Given the description of an element on the screen output the (x, y) to click on. 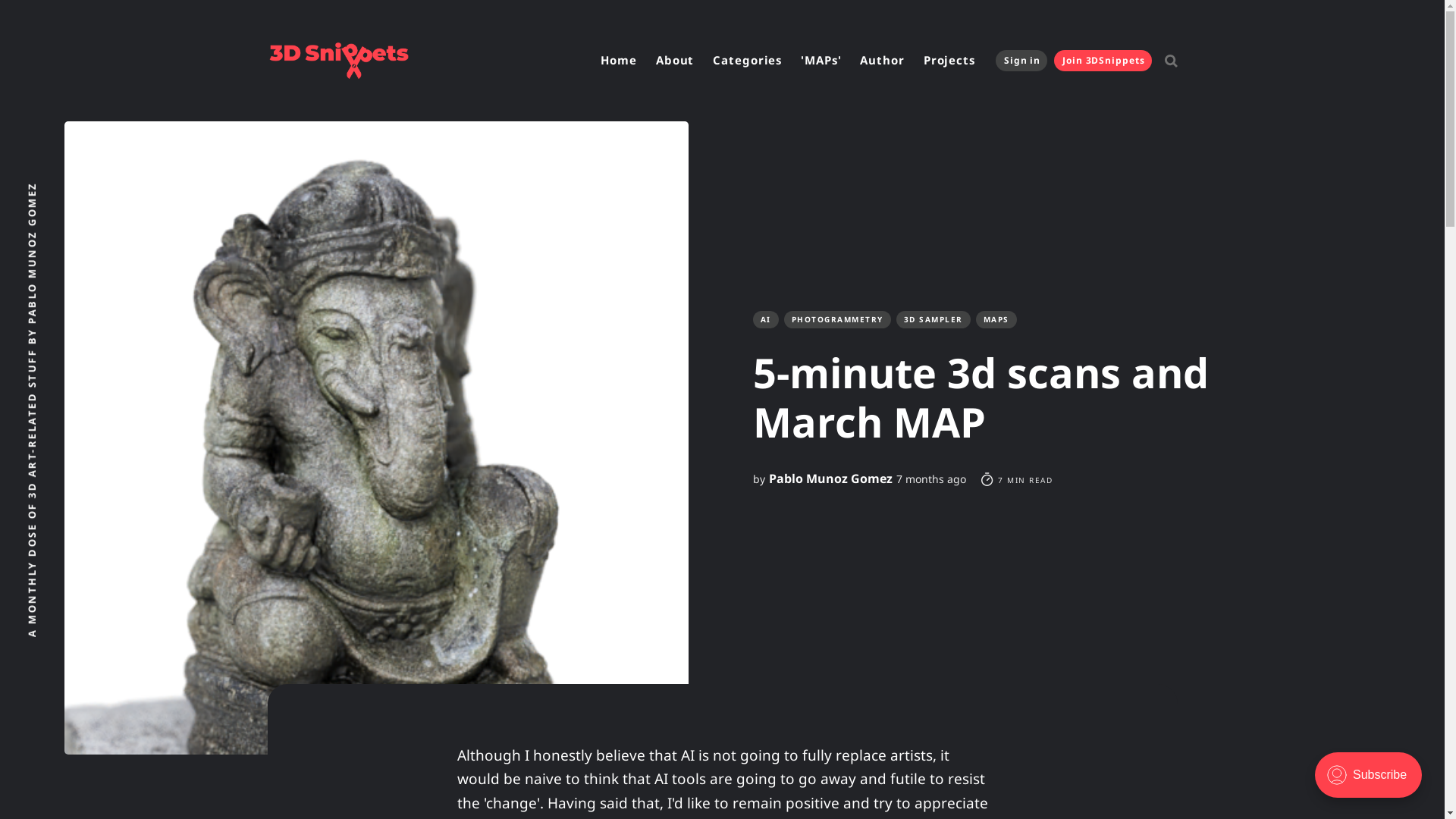
PHOTOGRAMMETRY Element type: text (837, 319)
Categories Element type: text (747, 60)
Author Element type: text (881, 60)
Projects Element type: text (949, 60)
Sign in Element type: text (1021, 60)
Home Element type: text (618, 60)
MAPS Element type: text (995, 319)
Pablo Munoz Gomez Element type: text (830, 478)
'MAPs' Element type: text (820, 60)
Join 3DSnippets Element type: text (1102, 60)
About Element type: text (675, 60)
3D SAMPLER Element type: text (933, 319)
AI Element type: text (765, 319)
